Given the description of an element on the screen output the (x, y) to click on. 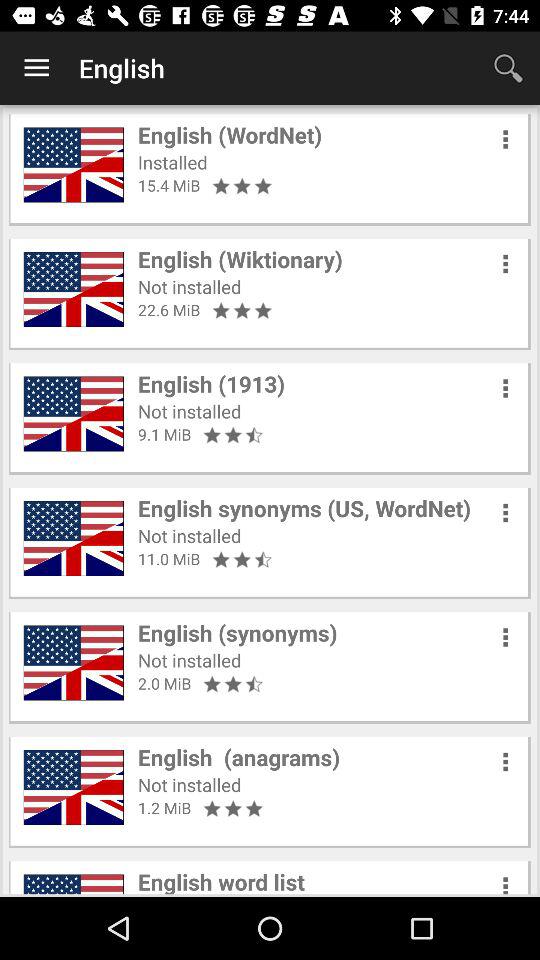
open the app to the left of the english item (36, 68)
